Given the description of an element on the screen output the (x, y) to click on. 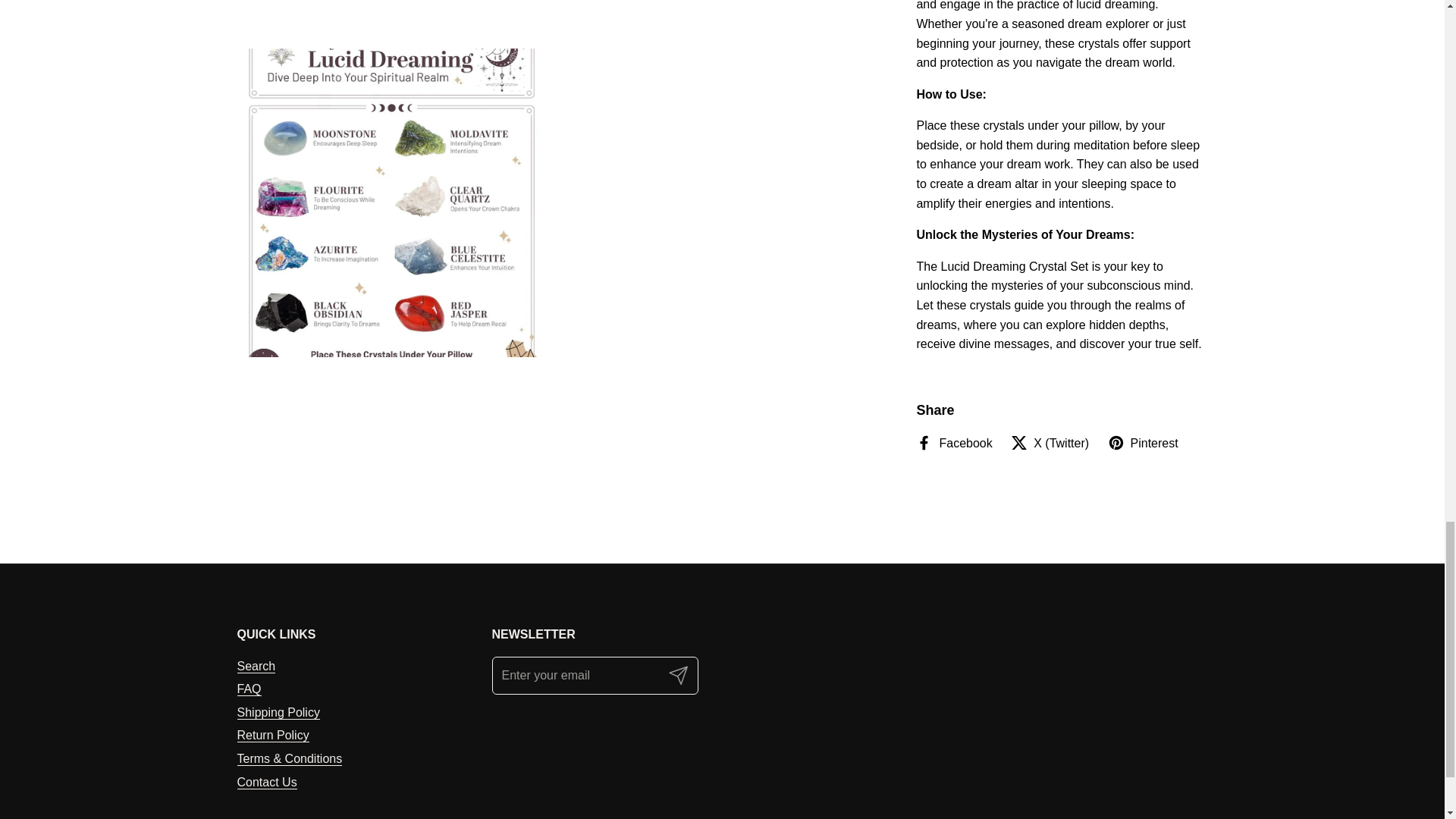
Share on facebook (953, 443)
Share on X (1049, 443)
Share on pinterest (1142, 443)
